Given the description of an element on the screen output the (x, y) to click on. 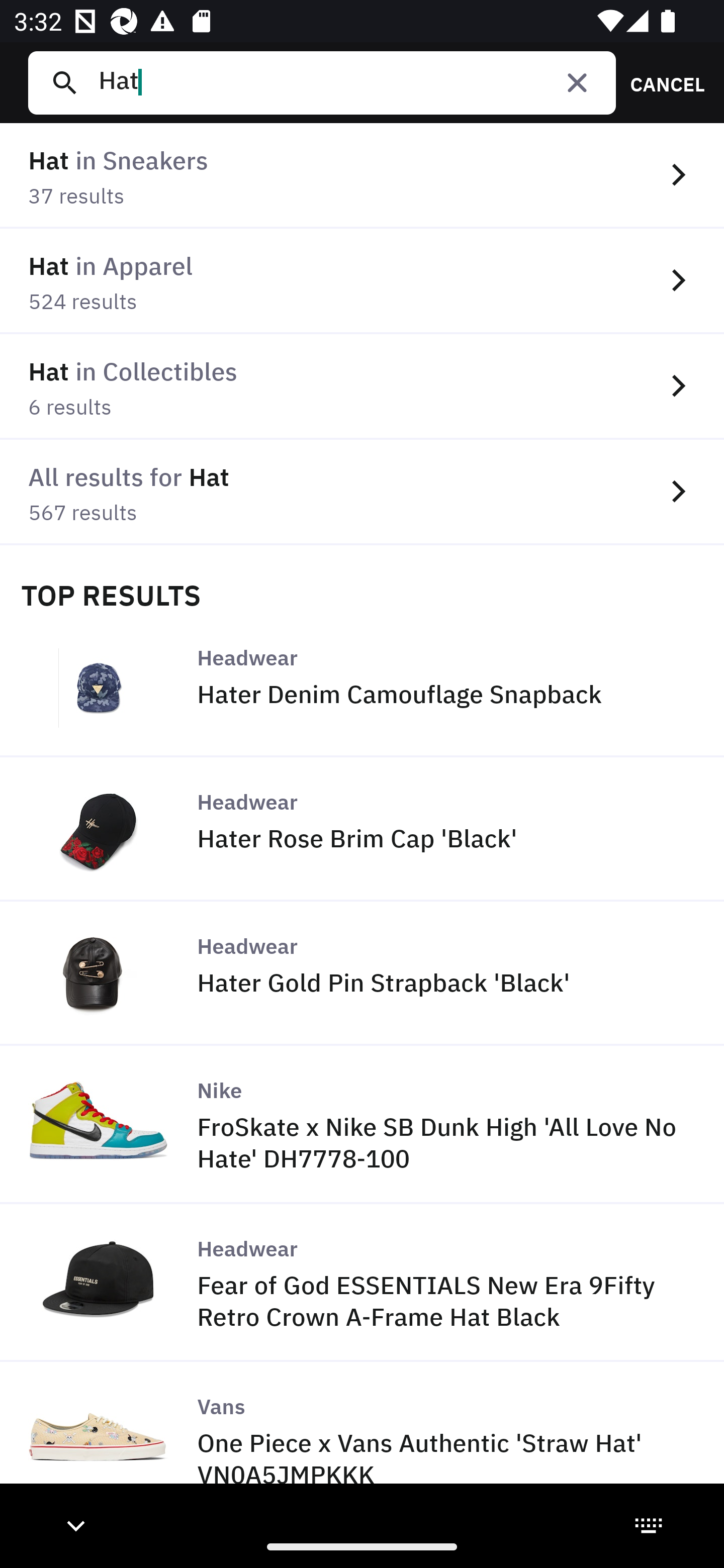
CANCEL (660, 82)
Hat (349, 82)
 (577, 82)
Hat  in Sneakers 37 results  (362, 175)
Hat  in Apparel 524 results  (362, 280)
Hat  in Collectibles 6 results  (362, 386)
All results for  Hat 567 results  (362, 492)
Headwear Hater Denim Camouflage Snapback (362, 685)
Headwear Hater Rose Brim Cap 'Black' (362, 829)
Headwear Hater Gold Pin Strapback 'Black' (362, 973)
